Given the description of an element on the screen output the (x, y) to click on. 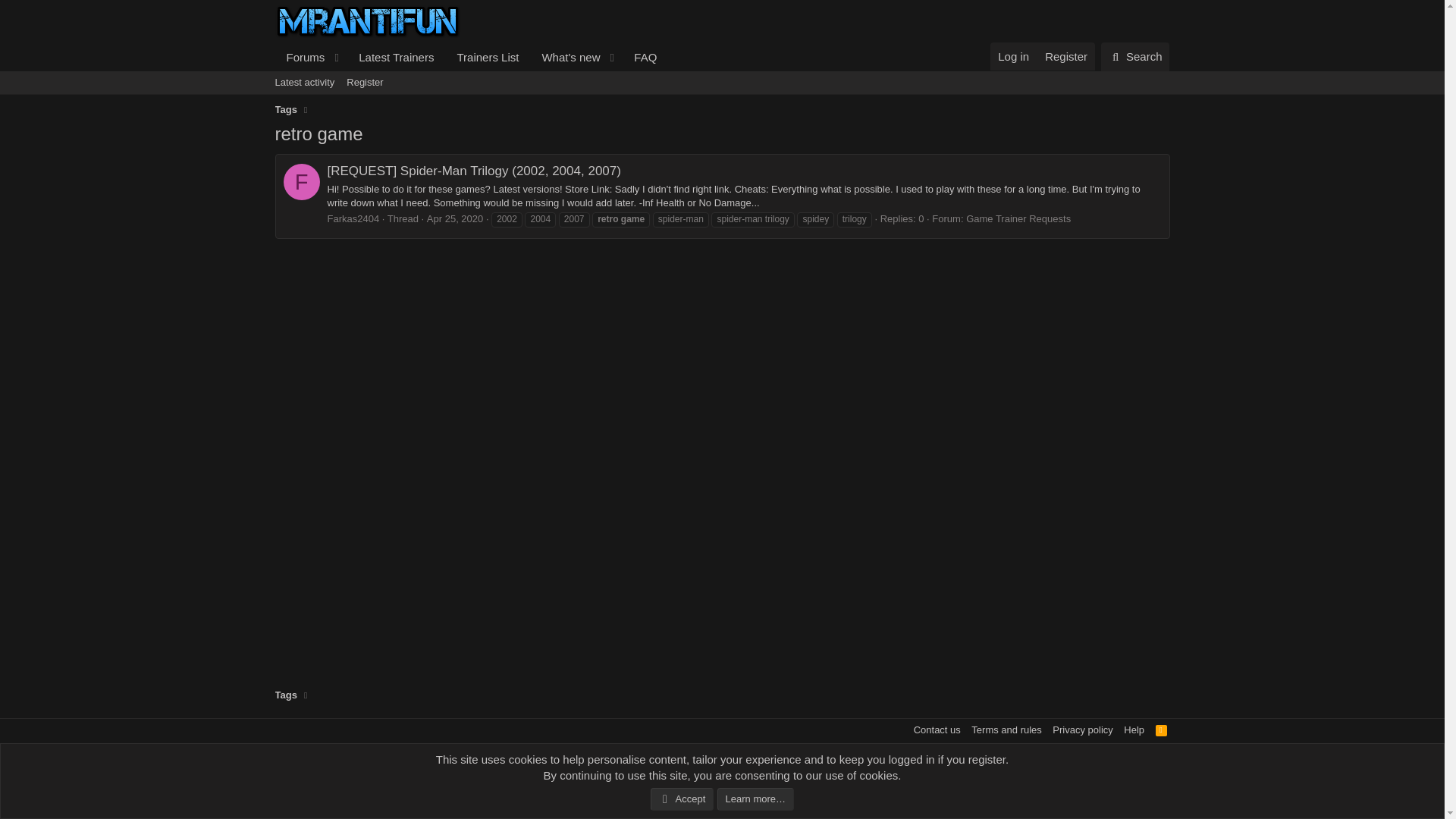
Forums (470, 57)
Farkas2404 (300, 57)
Accept (353, 218)
Latest activity (681, 798)
F (303, 82)
Latest Trainers (301, 181)
Tags (396, 57)
What's new (286, 694)
